Given the description of an element on the screen output the (x, y) to click on. 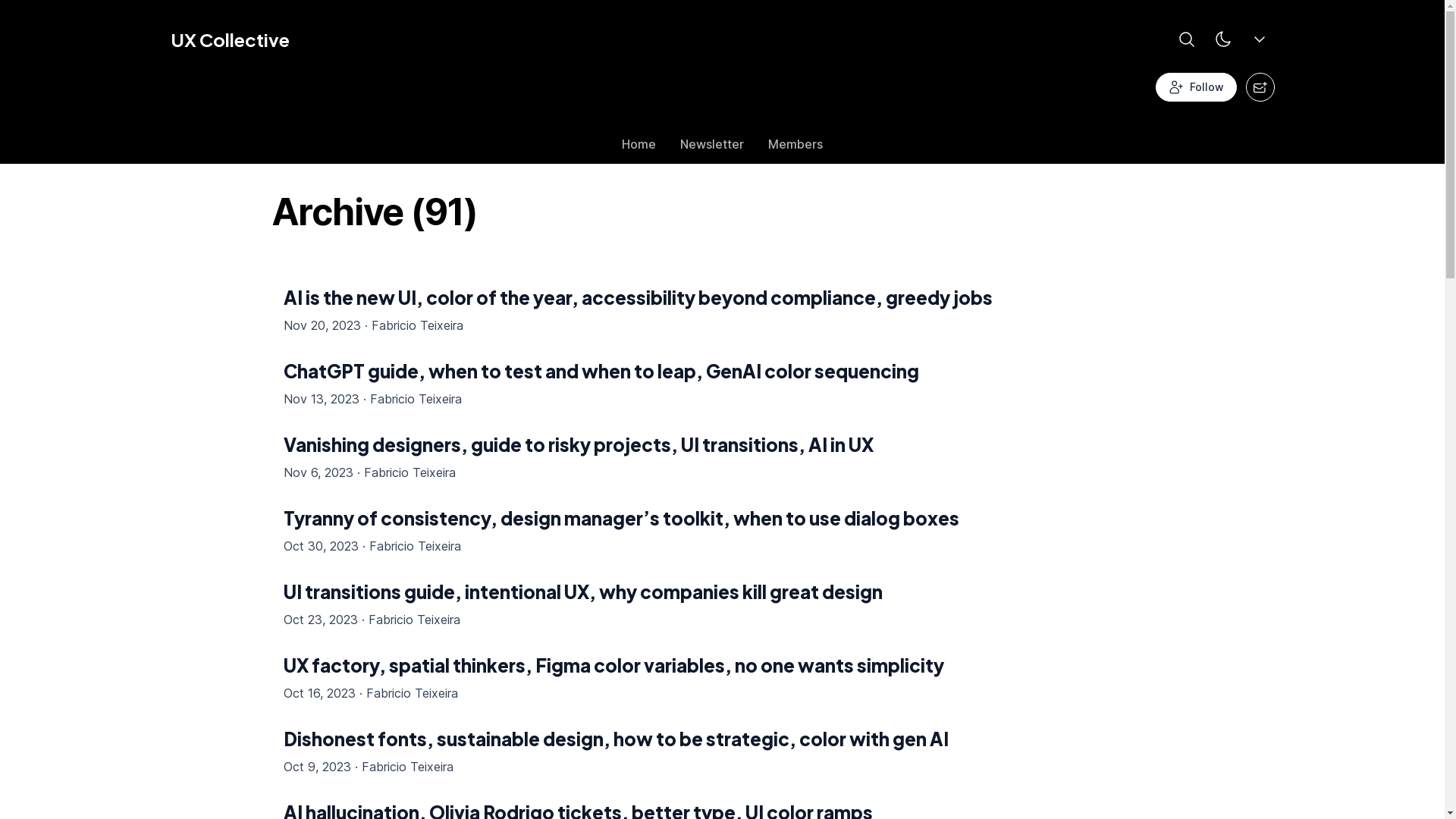
Fabricio Teixeira Element type: text (414, 545)
Fabricio Teixeira Element type: text (411, 693)
Newsletter Element type: text (712, 147)
UX Collective Element type: text (228, 39)
Follow Element type: text (1195, 86)
Home Element type: text (638, 147)
Fabricio Teixeira Element type: text (417, 325)
Members Element type: text (795, 147)
Fabricio Teixeira Element type: text (406, 766)
Fabricio Teixeira Element type: text (414, 619)
Fabricio Teixeira Element type: text (415, 398)
Fabricio Teixeira Element type: text (409, 472)
